Given the description of an element on the screen output the (x, y) to click on. 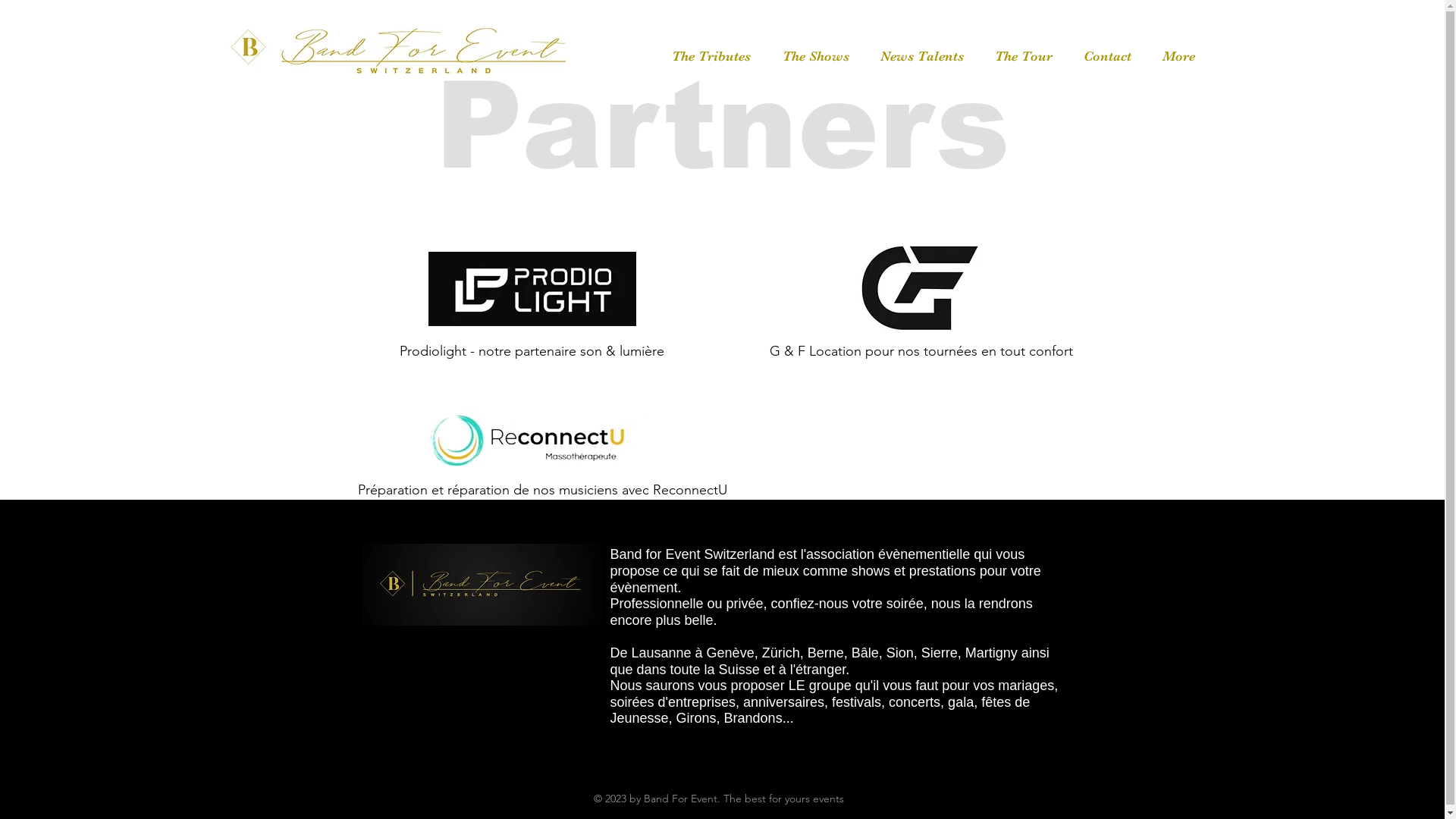
The Tributes Element type: text (710, 56)
The Tour Element type: text (1023, 56)
Contact Element type: text (1106, 56)
The Shows Element type: text (814, 56)
News Talents Element type: text (921, 56)
